Given the description of an element on the screen output the (x, y) to click on. 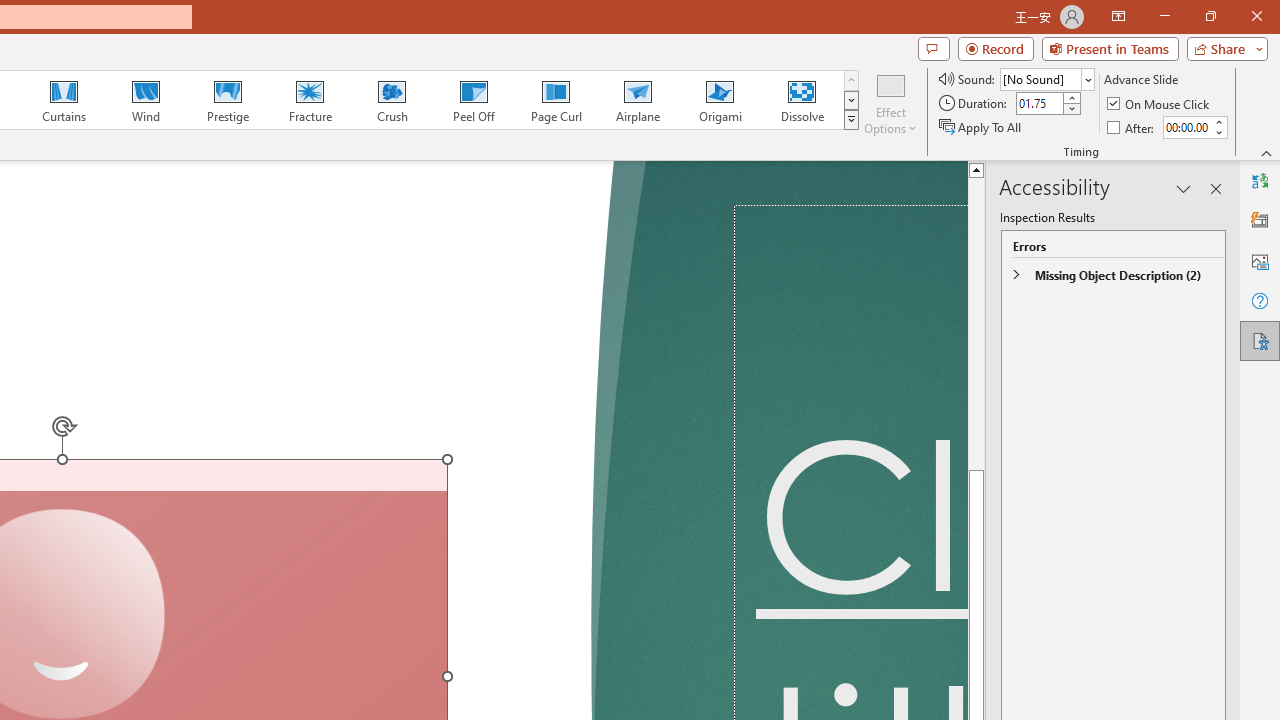
Crush (391, 100)
Close pane (1215, 188)
Collapse the Ribbon (1267, 152)
Ribbon Display Options (1118, 16)
Designer (1260, 220)
Row up (850, 79)
After (1131, 126)
Page Curl (555, 100)
Prestige (227, 100)
More (1218, 121)
Task Pane Options (1183, 188)
Help (1260, 300)
Row Down (850, 100)
Present in Teams (1109, 48)
